Given the description of an element on the screen output the (x, y) to click on. 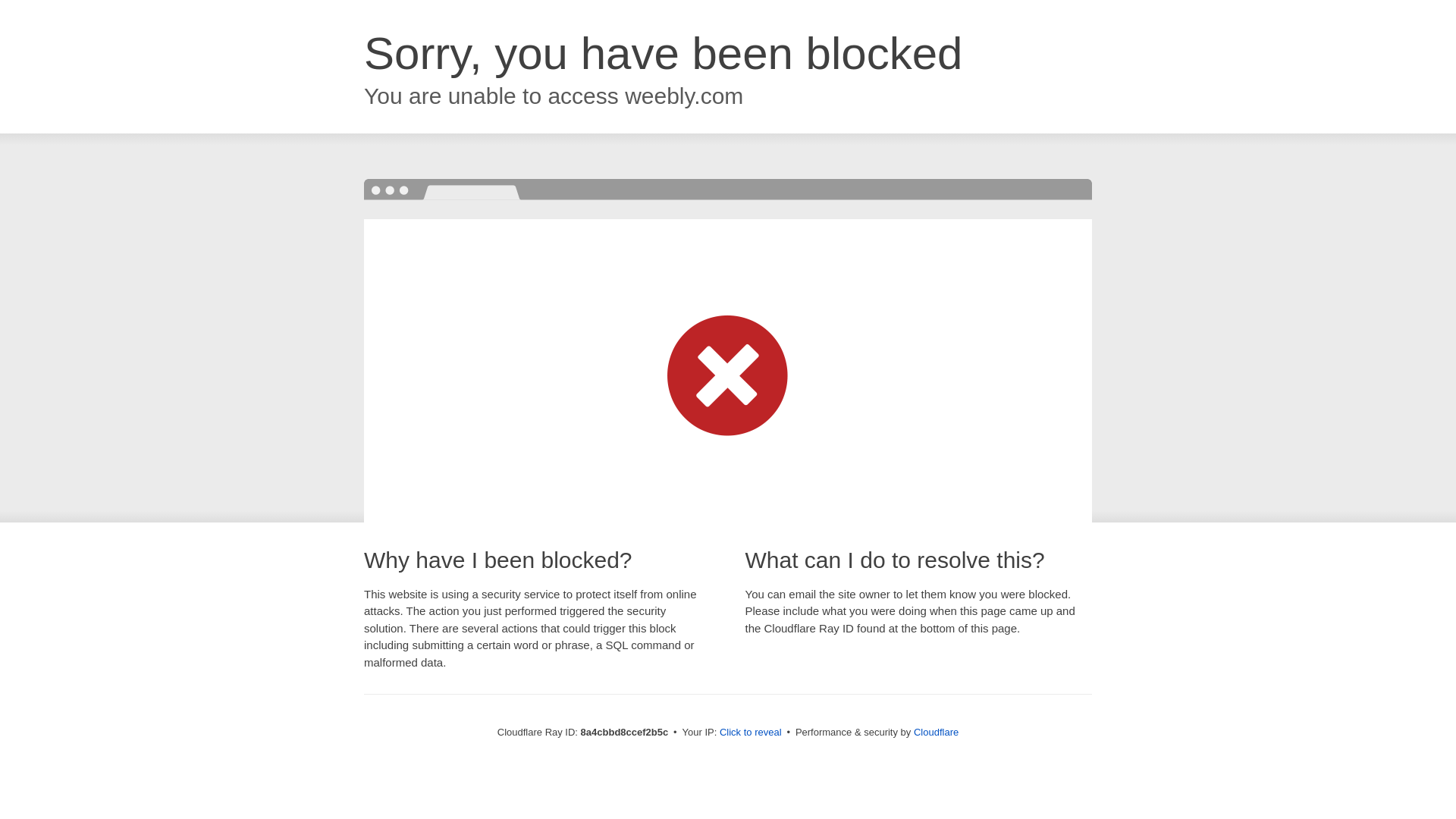
Click to reveal (750, 732)
Cloudflare (936, 731)
